Given the description of an element on the screen output the (x, y) to click on. 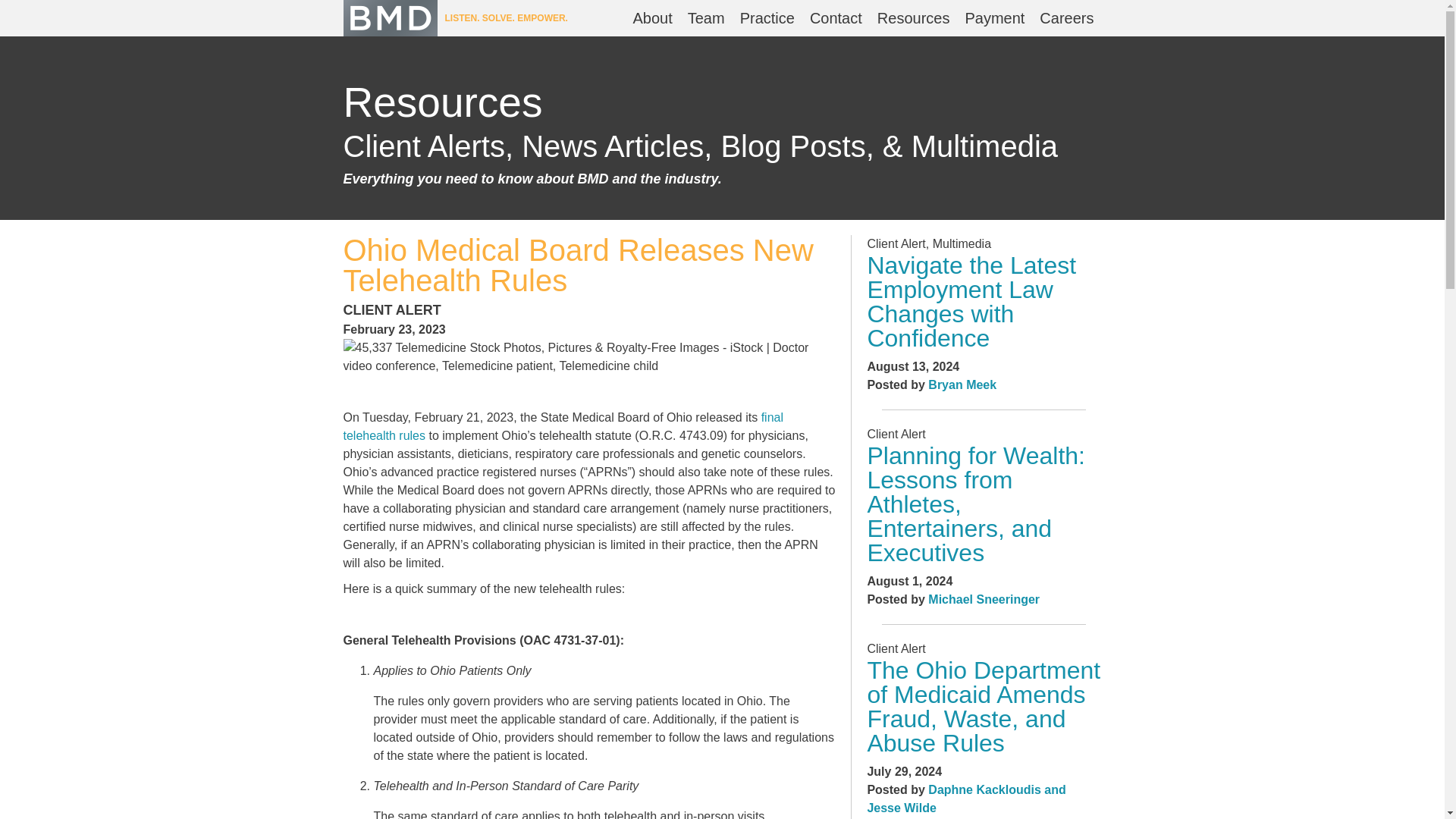
final telehealth rules (562, 426)
Payment (994, 18)
Careers (1066, 18)
Team (705, 18)
Resources (913, 18)
Contact (835, 18)
Practice (767, 18)
